Given the description of an element on the screen output the (x, y) to click on. 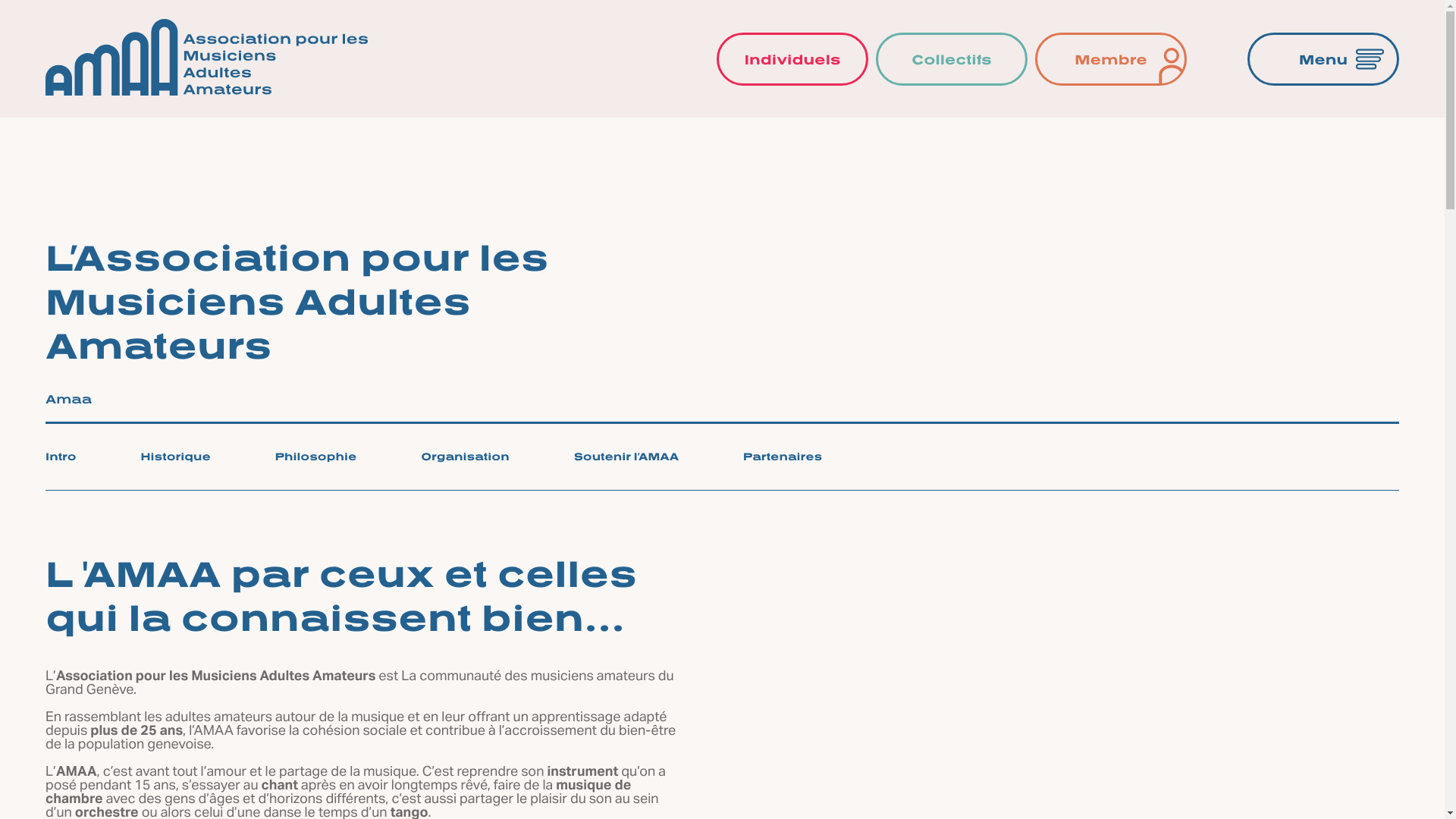
Partenaires Element type: text (782, 456)
Historique Element type: text (175, 456)
Membre Element type: text (1110, 57)
Individuels Element type: text (792, 57)
Collectifs Element type: text (951, 57)
Menu Element type: text (1323, 57)
Organisation Element type: text (464, 456)
Philosophie Element type: text (315, 456)
Intro Element type: text (60, 456)
